Given the description of an element on the screen output the (x, y) to click on. 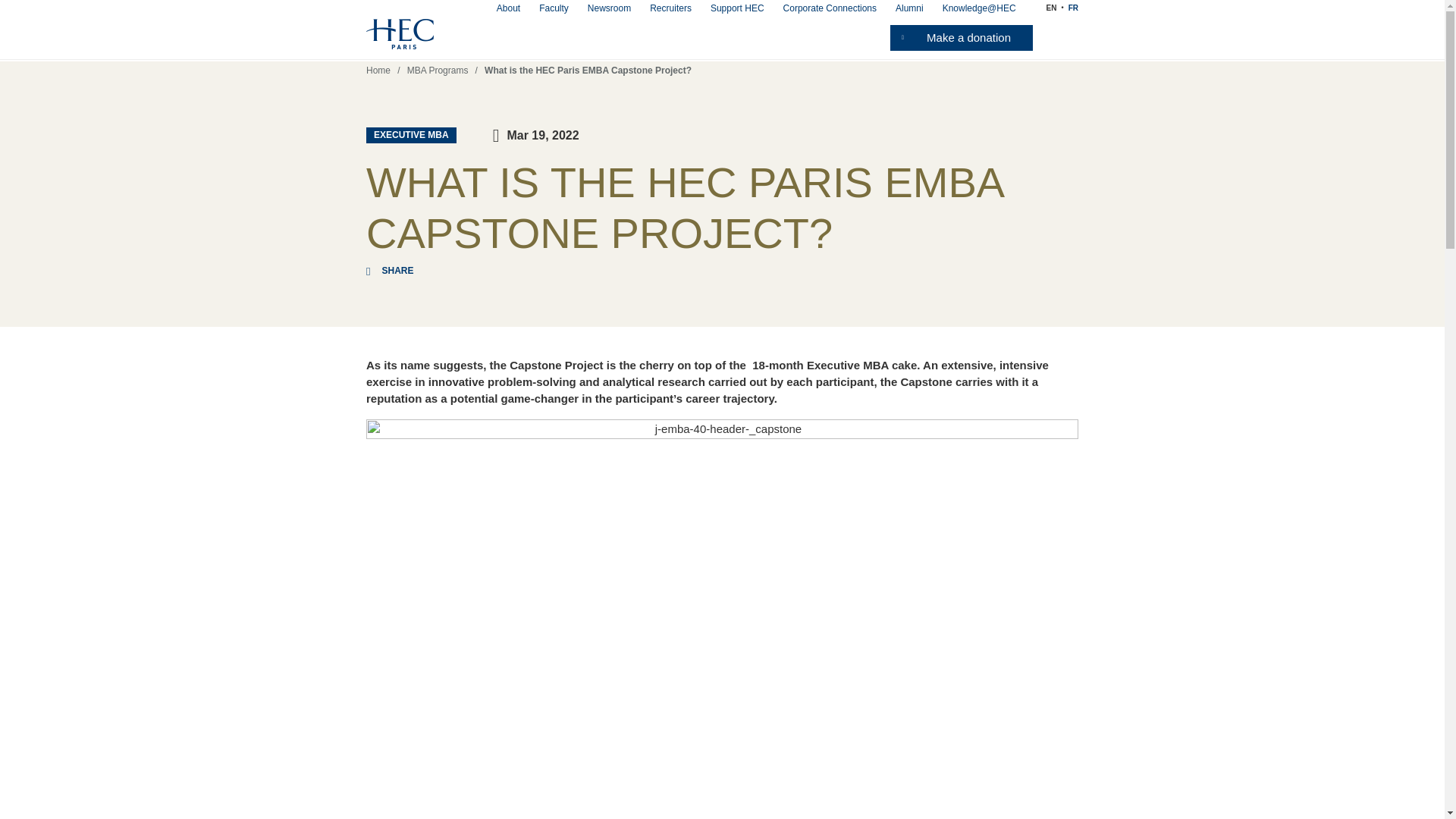
Newsroom (609, 8)
Support HEC (737, 8)
About (507, 8)
FR (1073, 8)
Recruiters (670, 8)
Recruiters (670, 8)
Make a donation (960, 37)
Newsroom (609, 8)
